Given the description of an element on the screen output the (x, y) to click on. 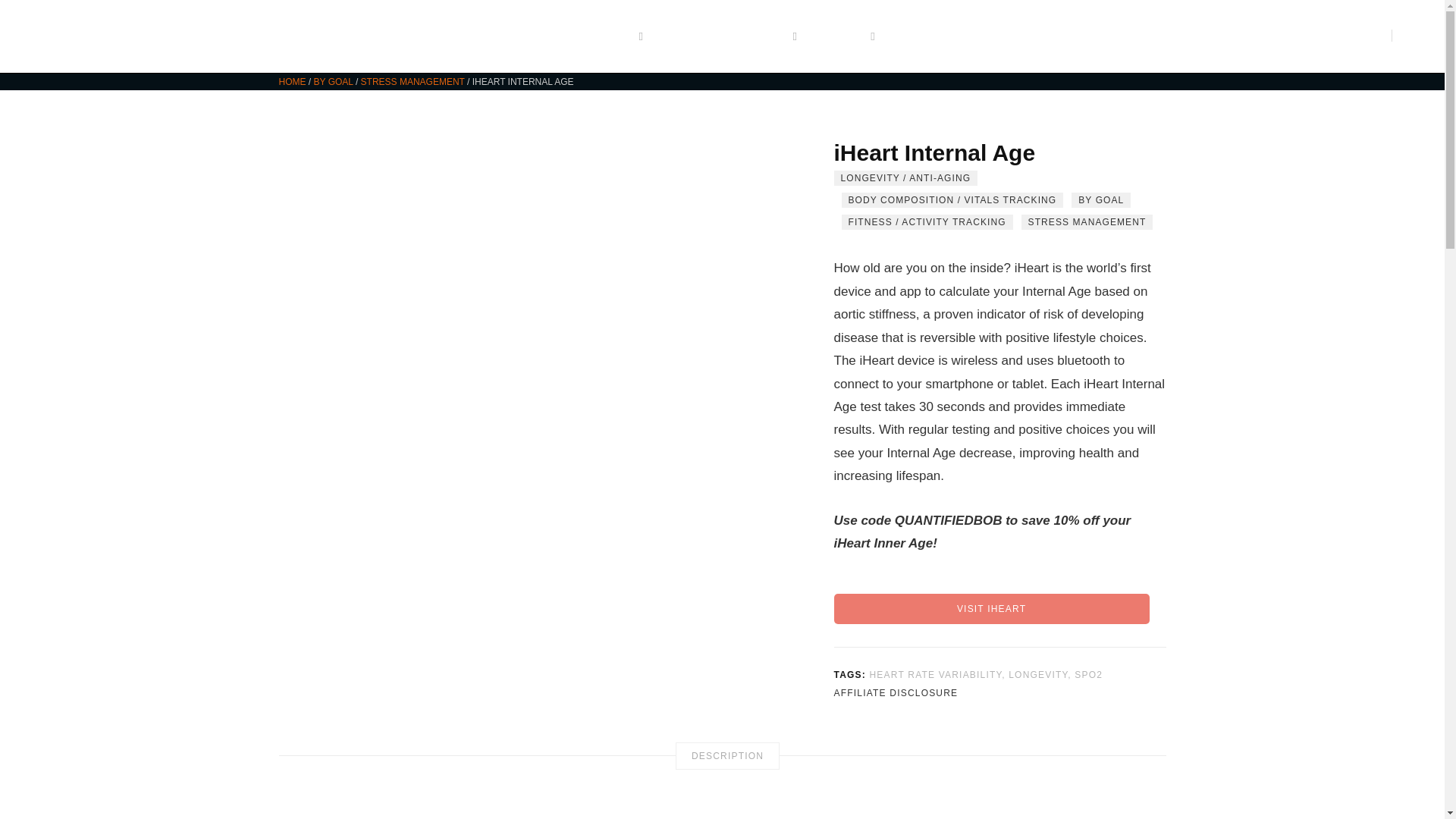
ARTICLES (608, 36)
Quantified Bob (119, 36)
START HERE (510, 36)
BOB RECOMMENDS (733, 36)
